Given the description of an element on the screen output the (x, y) to click on. 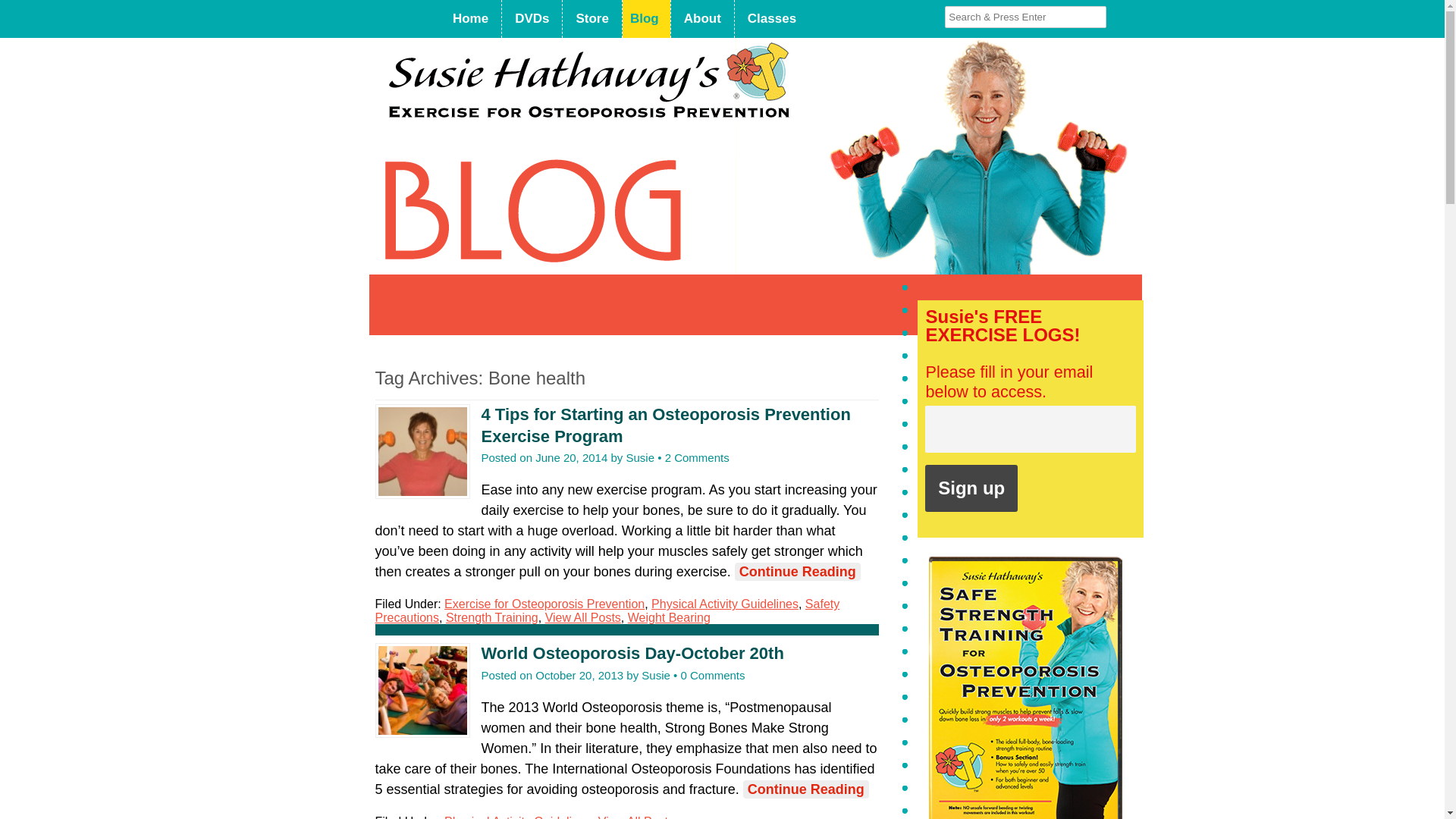
0 Comments (711, 675)
DVDs (532, 18)
World Osteoporosis Day-October 20th (631, 652)
2 Comments (697, 457)
Exercise for Osteoporosis Prevention (544, 603)
Weight Bearing (668, 617)
Classes (772, 18)
About (702, 18)
